Given the description of an element on the screen output the (x, y) to click on. 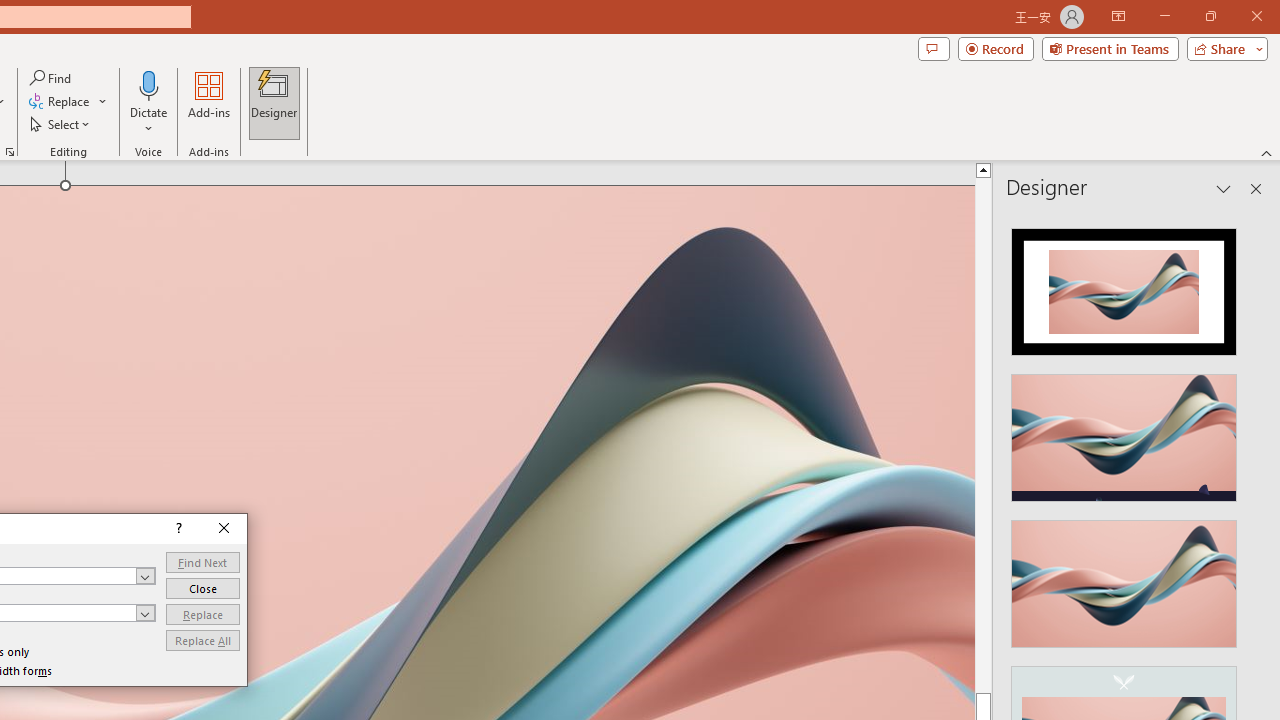
Recommended Design: Design Idea (1124, 286)
Replace All (202, 640)
Replace (202, 614)
Find Next (202, 561)
